Given the description of an element on the screen output the (x, y) to click on. 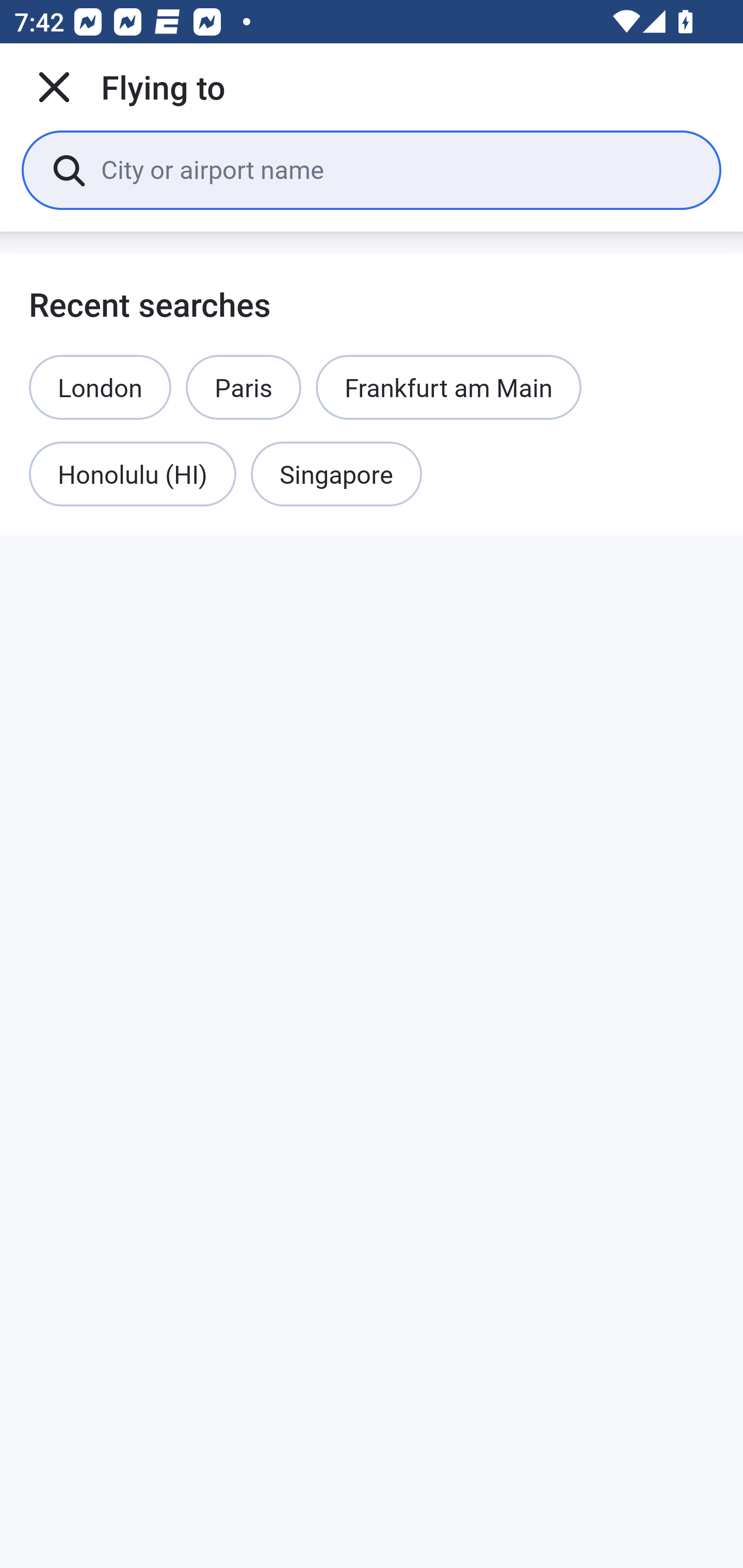
City or airport name (396, 169)
London (99, 387)
Paris (243, 387)
Frankfurt am Main (448, 387)
Honolulu (HI) (132, 474)
Singapore (336, 474)
